Given the description of an element on the screen output the (x, y) to click on. 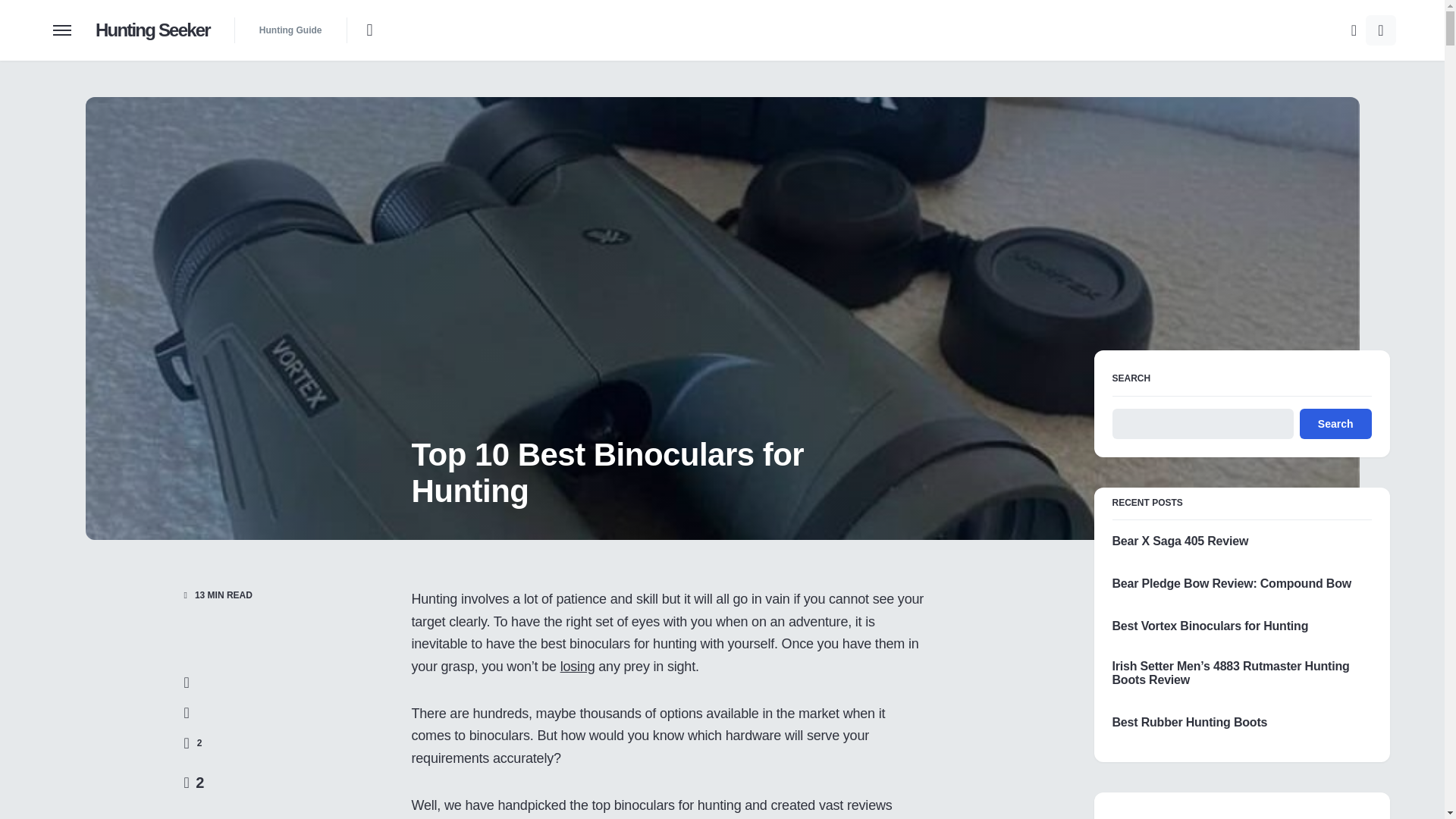
losing (577, 666)
Hunting Seeker (152, 30)
2 (192, 743)
